Given the description of an element on the screen output the (x, y) to click on. 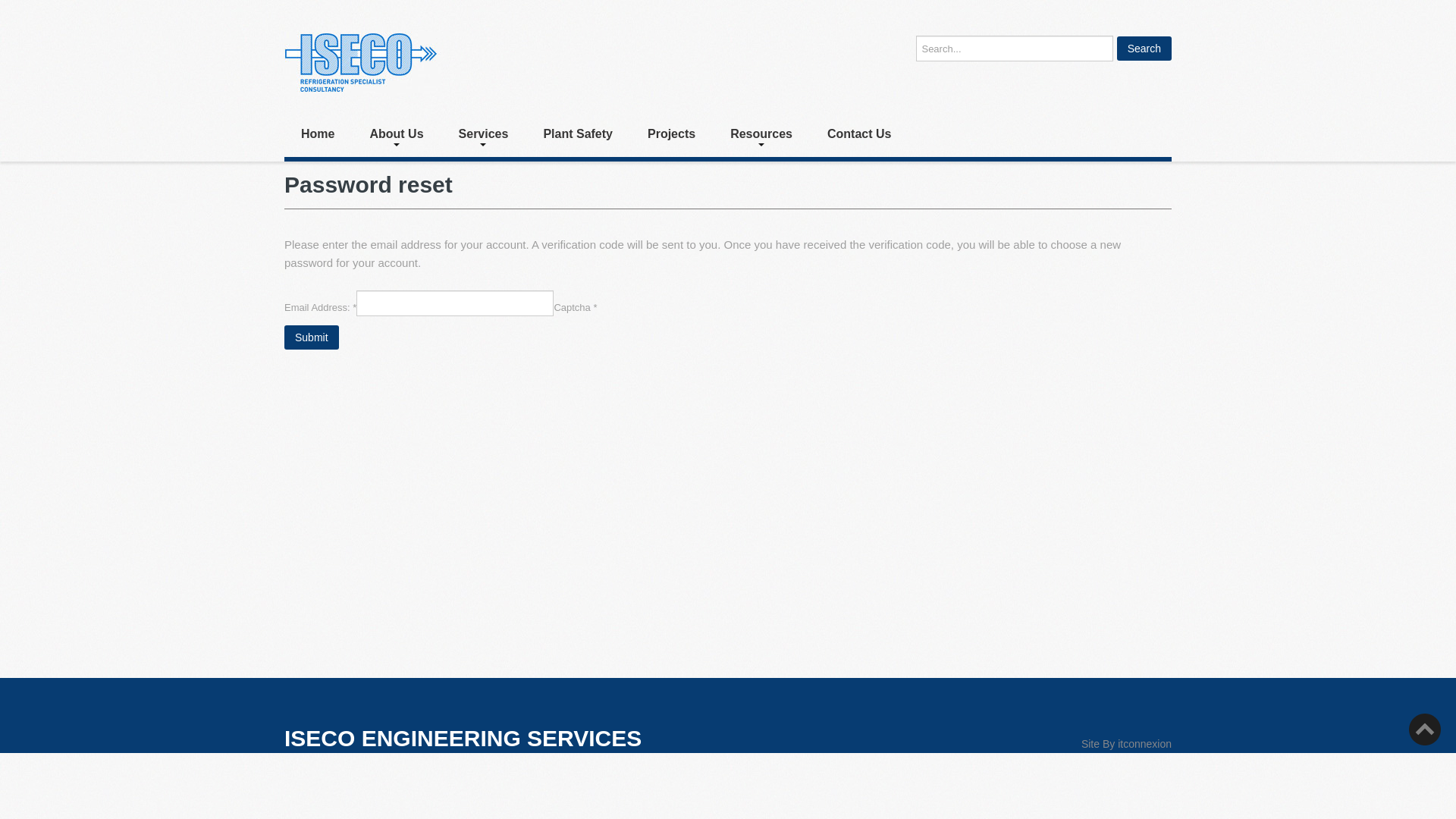
Projects Element type: text (671, 135)
Search Element type: text (1144, 48)
Services Element type: text (483, 135)
Site By itconnexion Element type: text (1126, 743)
Plant Safety Element type: text (577, 135)
Contact Us Element type: text (858, 135)
Home Element type: text (317, 135)
About Us Element type: text (395, 135)
Submit Element type: text (311, 337)
Resources Element type: text (761, 135)
